Given the description of an element on the screen output the (x, y) to click on. 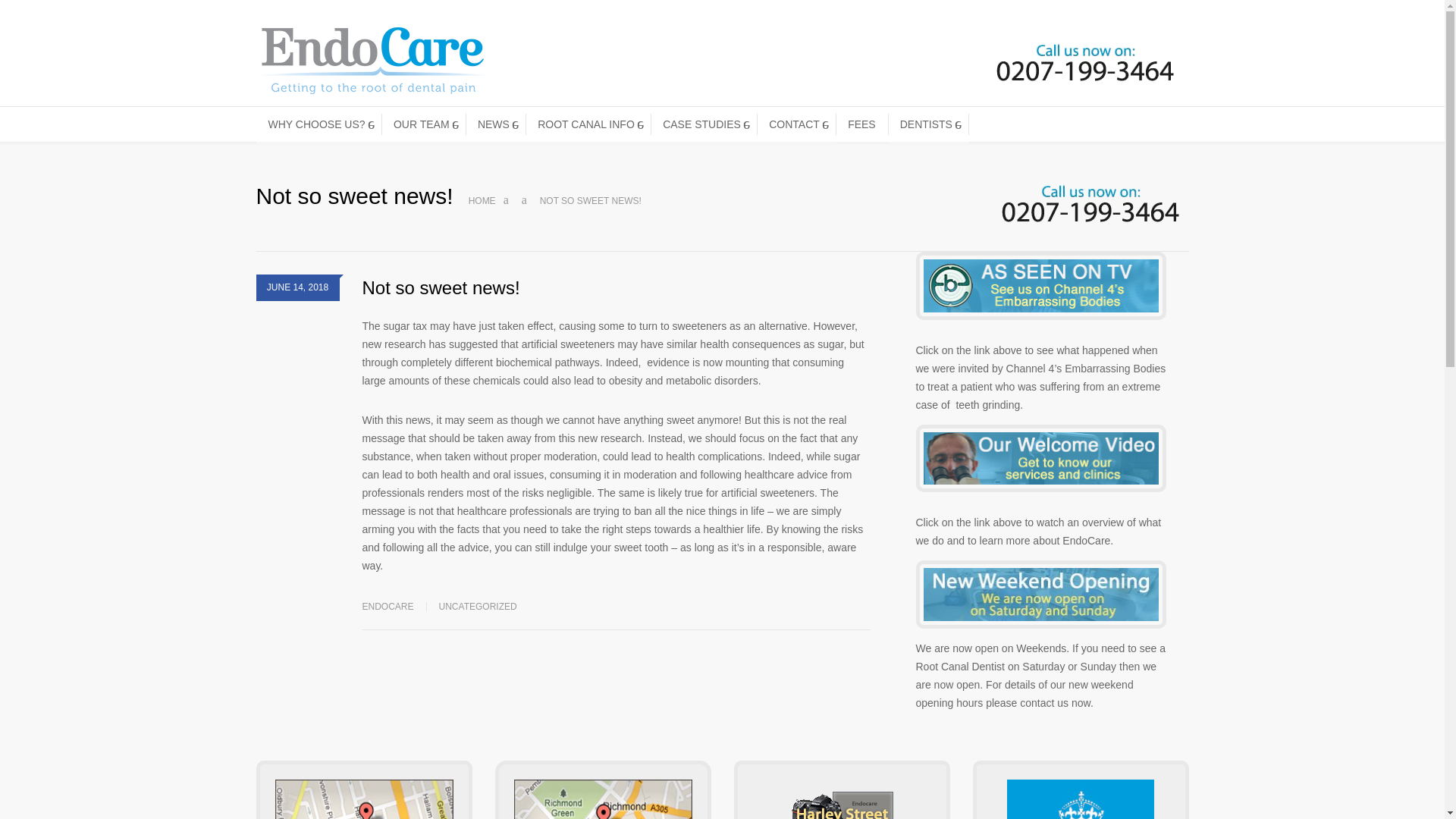
CASE STUDIES (703, 124)
map2 (603, 799)
ebodvid4 (1040, 285)
Not so sweet news! (440, 287)
NEWS (495, 124)
Home (482, 200)
ourvid (1040, 458)
ROOT CANAL INFO (587, 124)
OUR TEAM (423, 124)
View all posts filed under Uncategorized (477, 606)
